Given the description of an element on the screen output the (x, y) to click on. 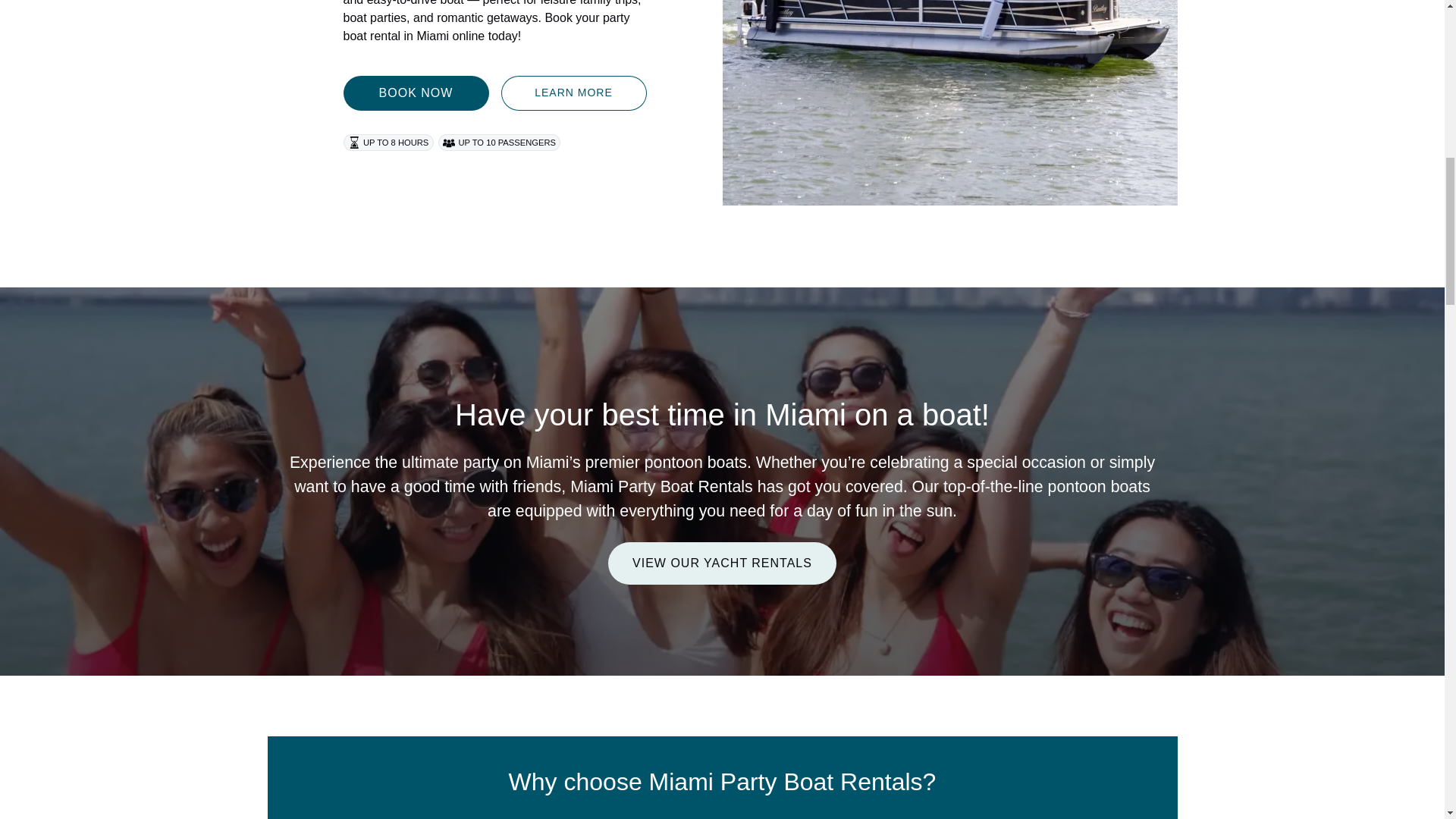
BentleyPontoonBoat2022 (949, 102)
VIEW OUR YACHT RENTALS (721, 550)
LEARN MORE (573, 93)
BOOK NOW (414, 93)
FareHarbor (1342, 64)
